Given the description of an element on the screen output the (x, y) to click on. 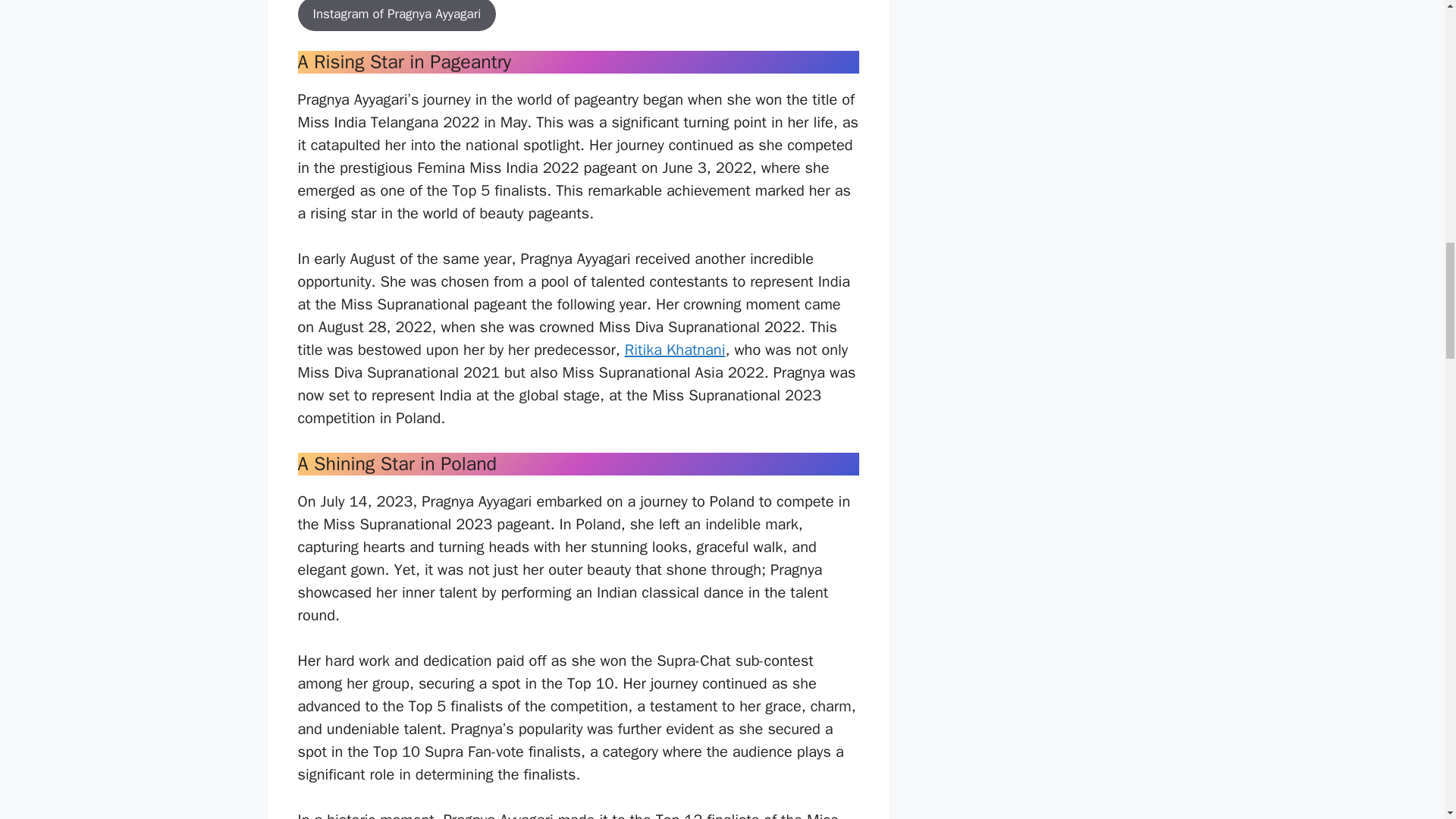
Instagram of Pragnya Ayyagari (396, 15)
Ritika Khatnani (674, 349)
